Given the description of an element on the screen output the (x, y) to click on. 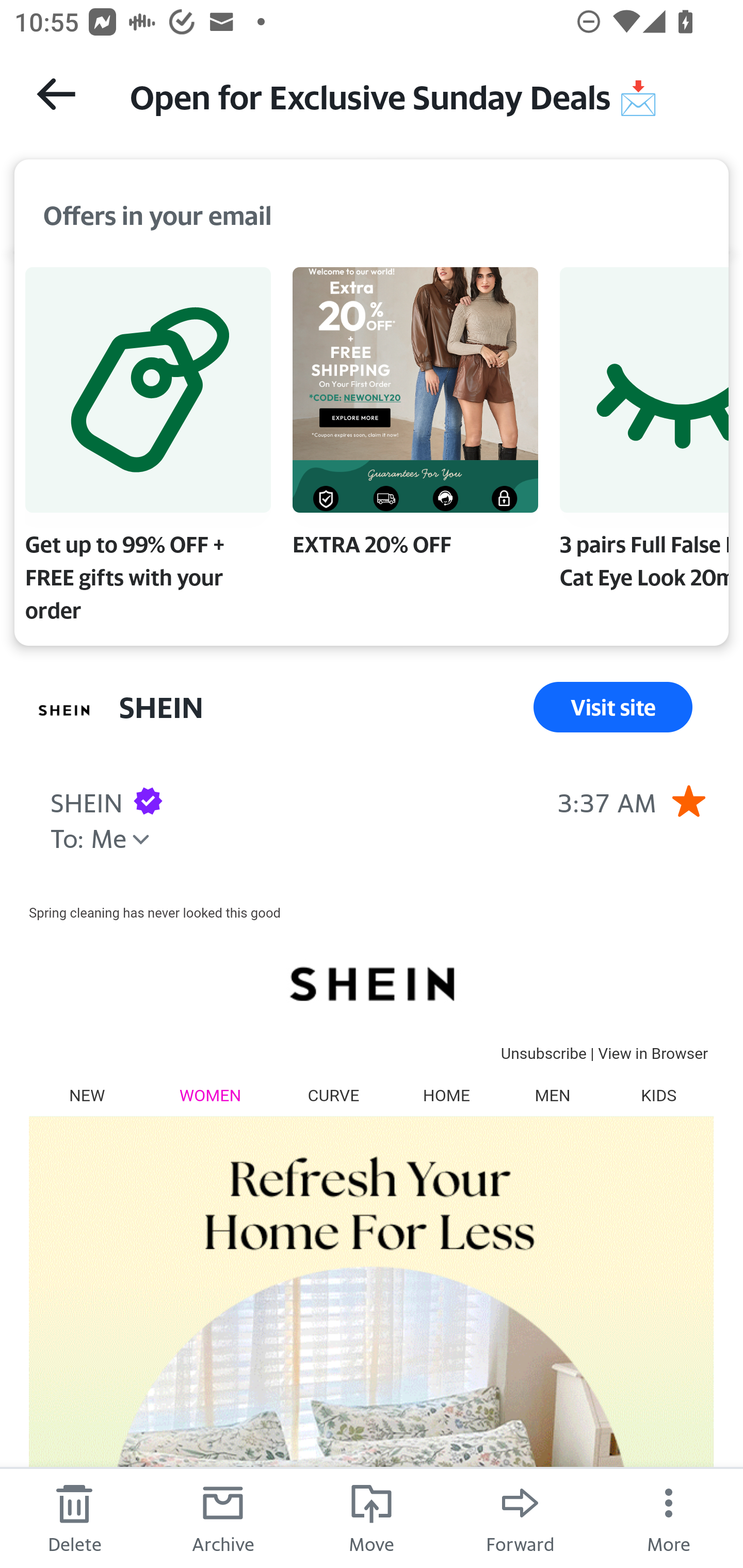
Back (55, 93)
Open for Exclusive Sunday Deals 📩 (418, 94)
Get up to 99% OFF + FREE gifts with your order (147, 448)
EXTRA 20% OFF (415, 416)
View all messages from sender (64, 711)
Visit site Visit Site Link (612, 707)
SHEIN Sender SHEIN (160, 706)
SHEIN Sender SHEIN (86, 800)
Remove star. (688, 800)
Spring cleaning has never looked this good (154, 912)
SHEIN (370, 982)
Unsubscribe (543, 1052)
View in Browser (652, 1052)
NEW (86, 1095)
WOMEN (210, 1095)
CURVE (333, 1095)
HOME (445, 1095)
MEN (552, 1095)
KIDS (658, 1095)
REFRESH YOUR HOME FOR LESS (370, 1342)
Delete (74, 1517)
Archive (222, 1517)
Move (371, 1517)
Forward (519, 1517)
More (668, 1517)
